Given the description of an element on the screen output the (x, y) to click on. 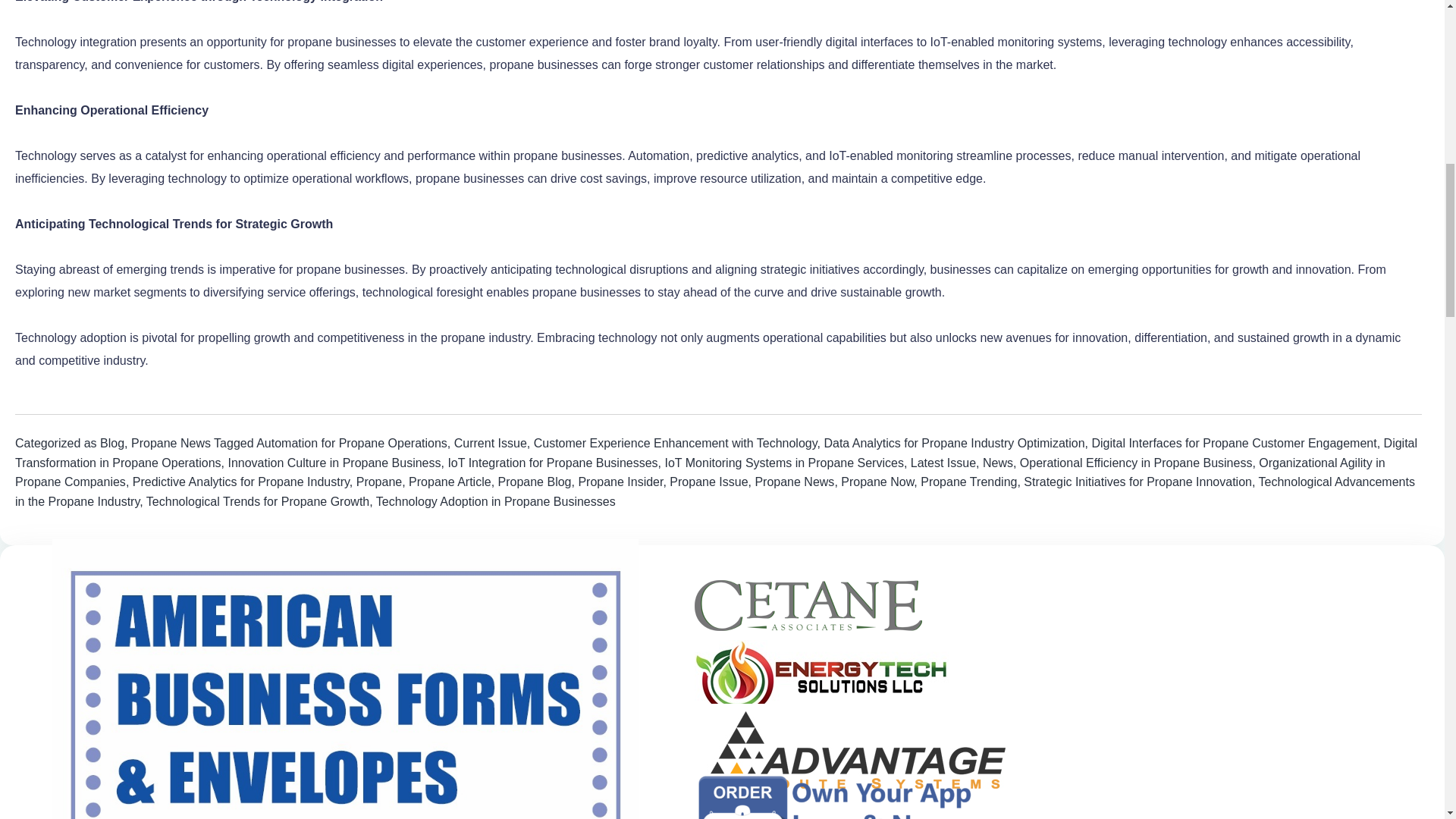
Propane News (794, 481)
Digital Interfaces for Propane Customer Engagement (1232, 442)
Innovation Culture in Propane Business (334, 462)
Latest Issue (943, 462)
News (997, 462)
IoT Integration for Propane Businesses (552, 462)
Organizational Agility in Propane Companies (700, 472)
Propane Article (450, 481)
Propane Issue (708, 481)
Customer Experience Enhancement with Technology (675, 442)
Propane Blog (534, 481)
Propane (379, 481)
Current Issue (490, 442)
Propane News (171, 442)
Predictive Analytics for Propane Industry (240, 481)
